Given the description of an element on the screen output the (x, y) to click on. 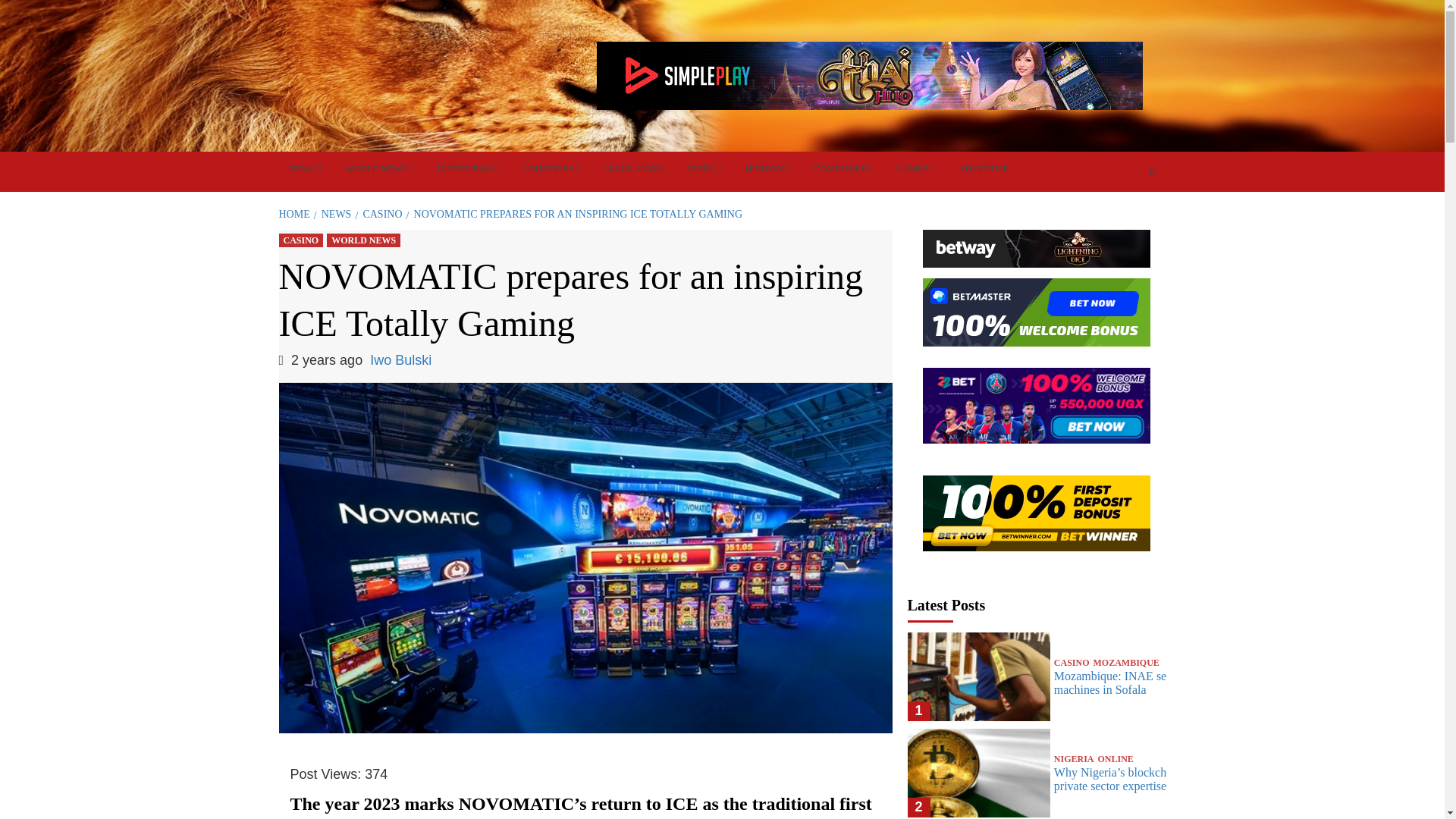
NEWS (305, 169)
